Given the description of an element on the screen output the (x, y) to click on. 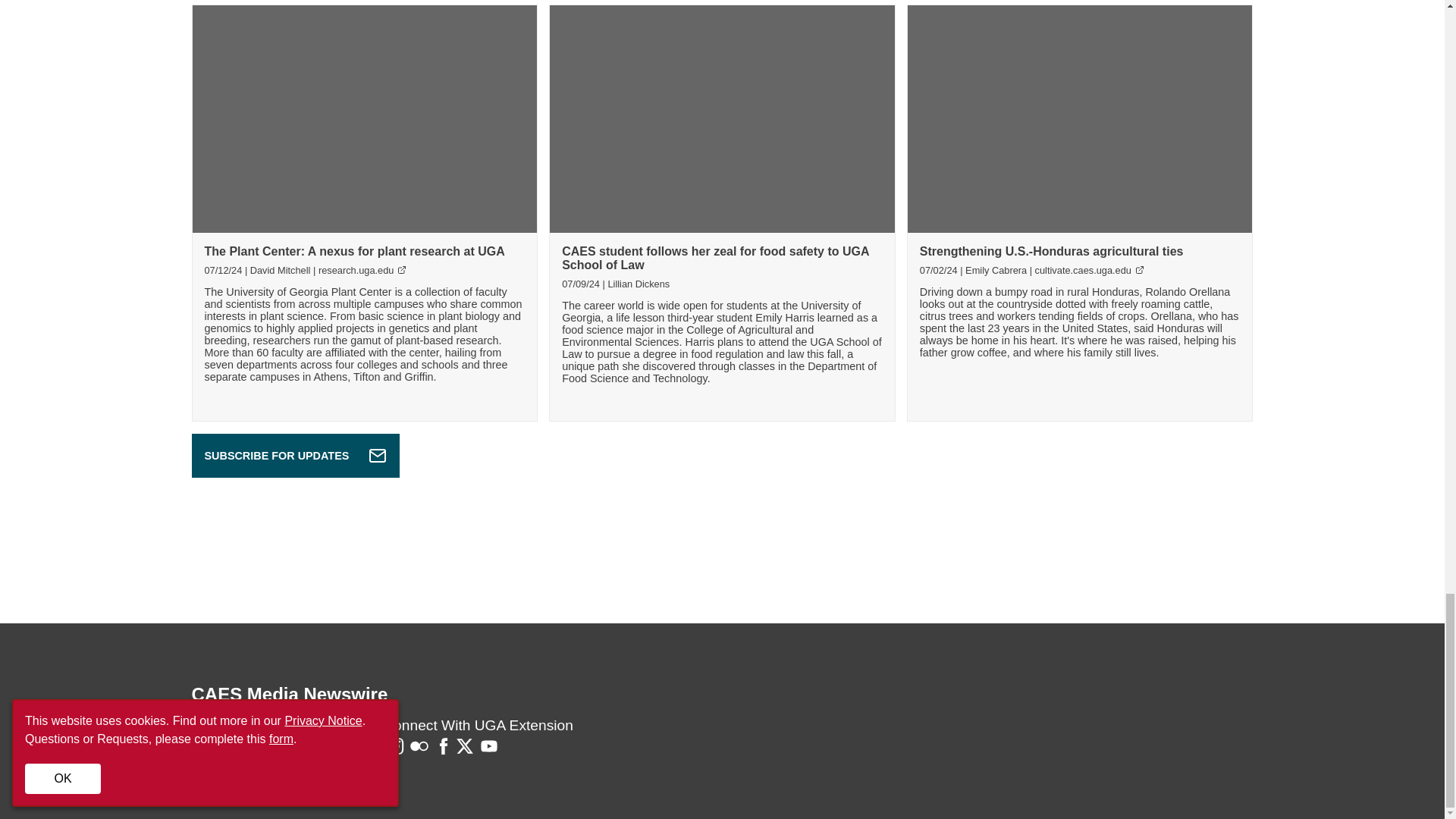
SUBSCRIBE FOR UPDATES (294, 455)
The Plant Center: A nexus for plant research at UGA (355, 250)
Strengthening U.S.-Honduras agricultural ties (1051, 250)
